Given the description of an element on the screen output the (x, y) to click on. 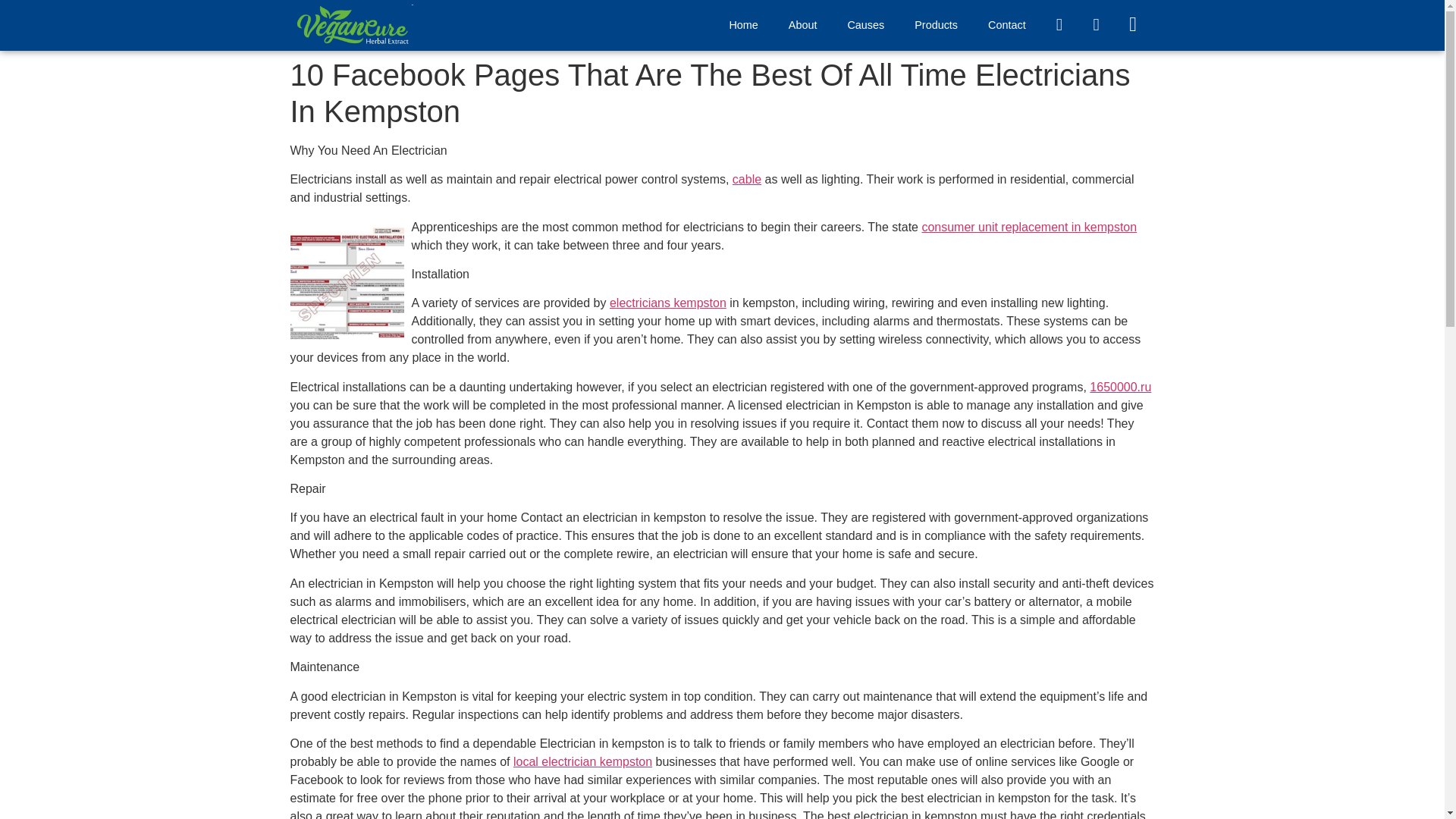
Causes (865, 24)
Contact (1006, 24)
local electrician kempston (582, 761)
electricians kempston (668, 302)
consumer unit replacement in kempston (1029, 226)
Products (935, 24)
About (802, 24)
cable (746, 178)
Home (743, 24)
1650000.ru (1120, 386)
